Given the description of an element on the screen output the (x, y) to click on. 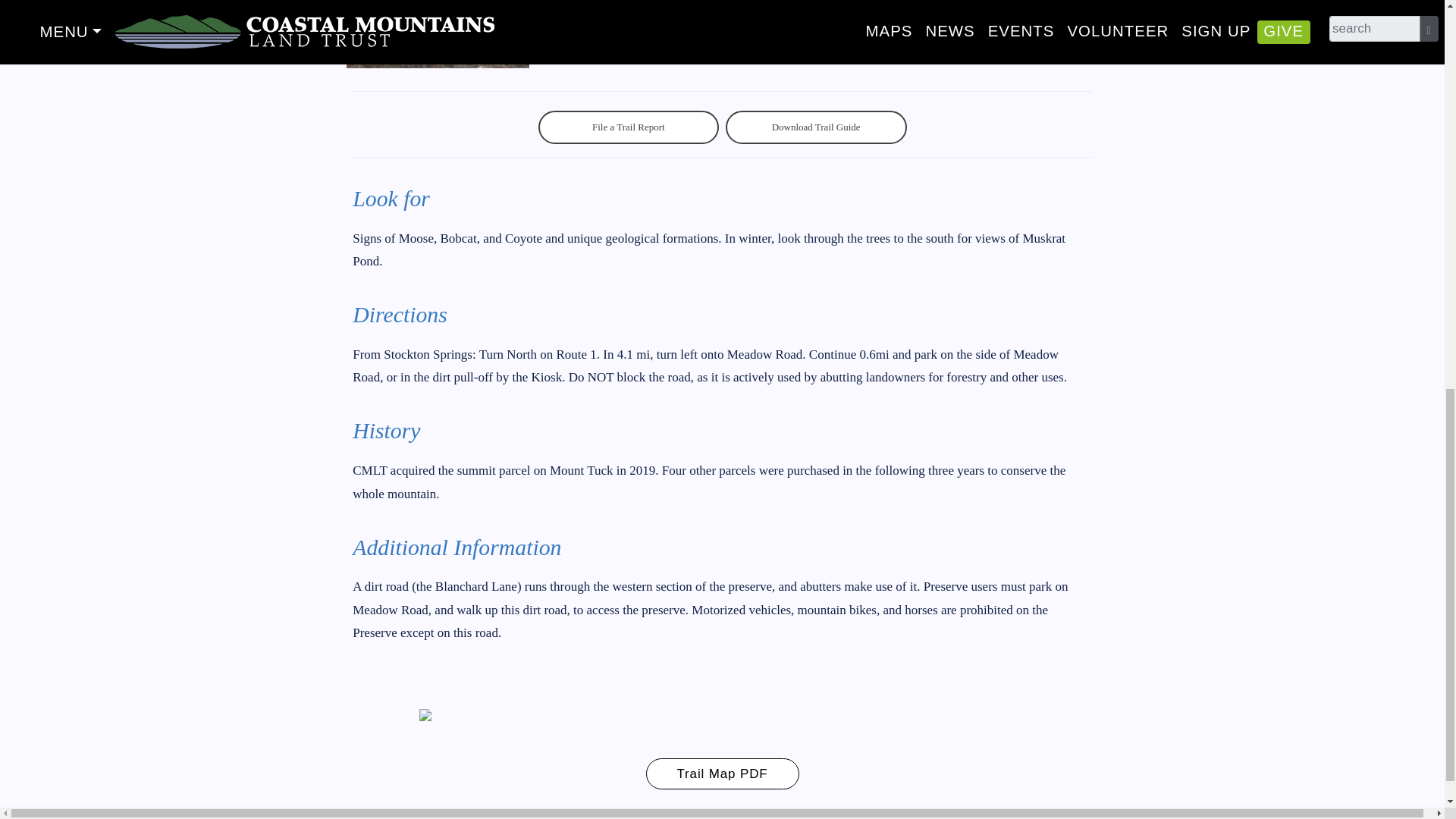
File a Trail Report (628, 126)
Trail Map PDF (722, 773)
Download Trail Guide (816, 126)
